Given the description of an element on the screen output the (x, y) to click on. 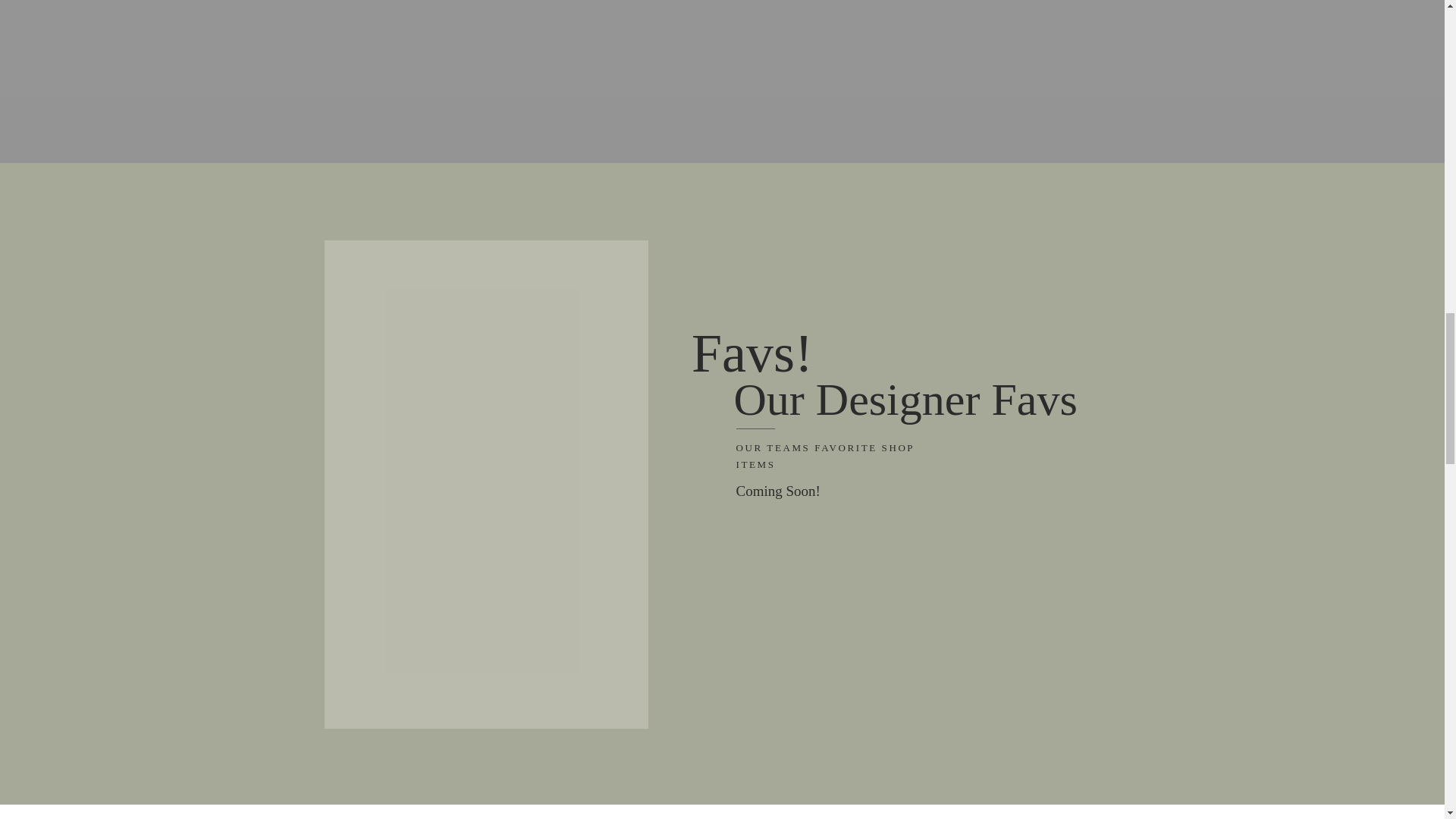
Favs!  (758, 360)
